Given the description of an element on the screen output the (x, y) to click on. 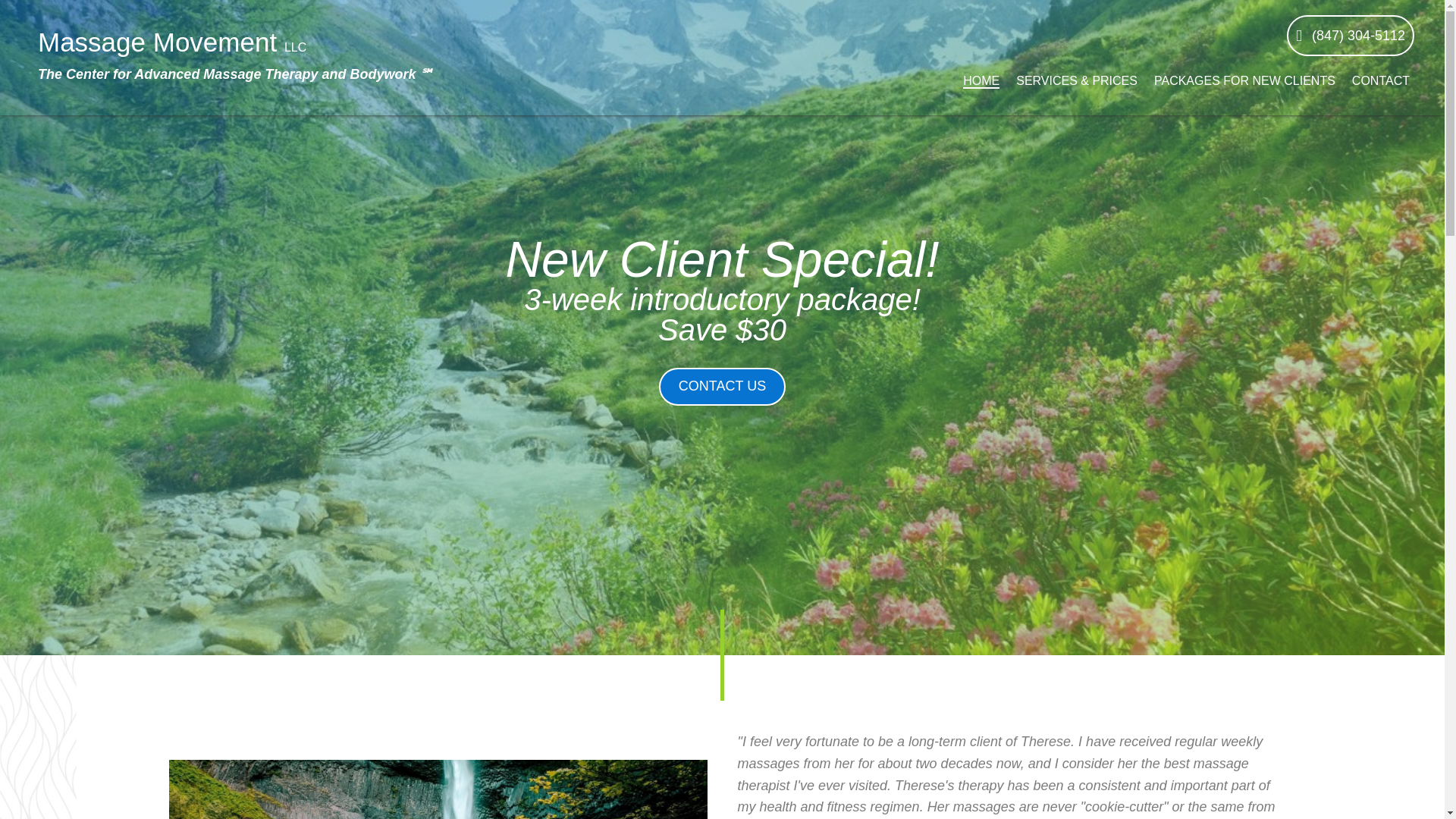
HOME (981, 78)
PACKAGES FOR NEW CLIENTS (1244, 78)
CONTACT US (722, 386)
CONTACT (1380, 78)
